Given the description of an element on the screen output the (x, y) to click on. 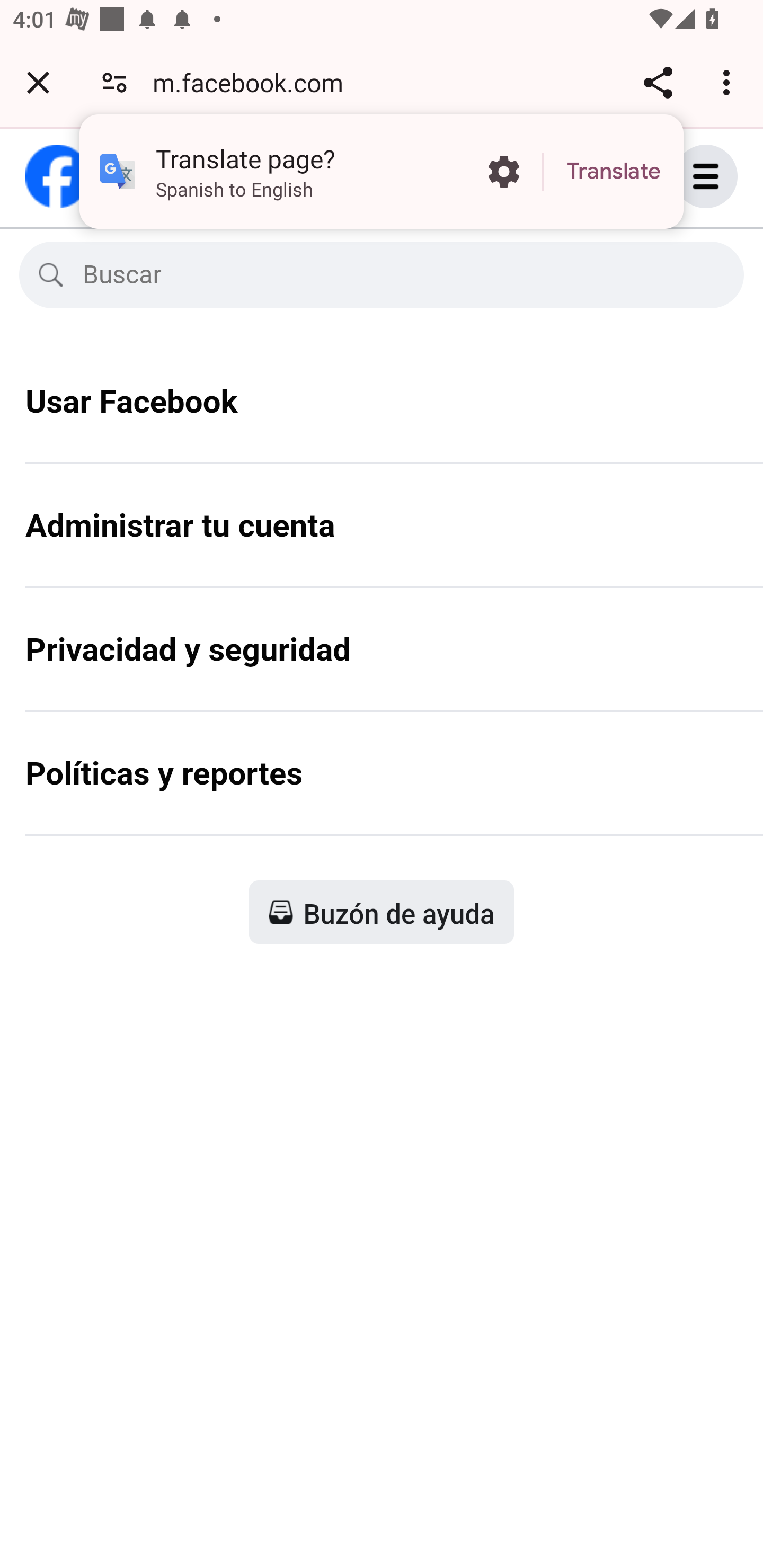
Close tab (38, 82)
Share (657, 82)
Customize and control Google Chrome (729, 82)
Connection is secure (114, 81)
m.facebook.com (254, 81)
Translate (613, 171)
More options in the Translate page? (503, 171)
Menú del servicio de ayuda (724, 176)
Usar Facebook (381, 414)
Administrar tu cuenta (381, 538)
Privacidad y seguridad (381, 662)
Políticas y reportes (381, 786)
Buzón de ayuda (381, 911)
